Given the description of an element on the screen output the (x, y) to click on. 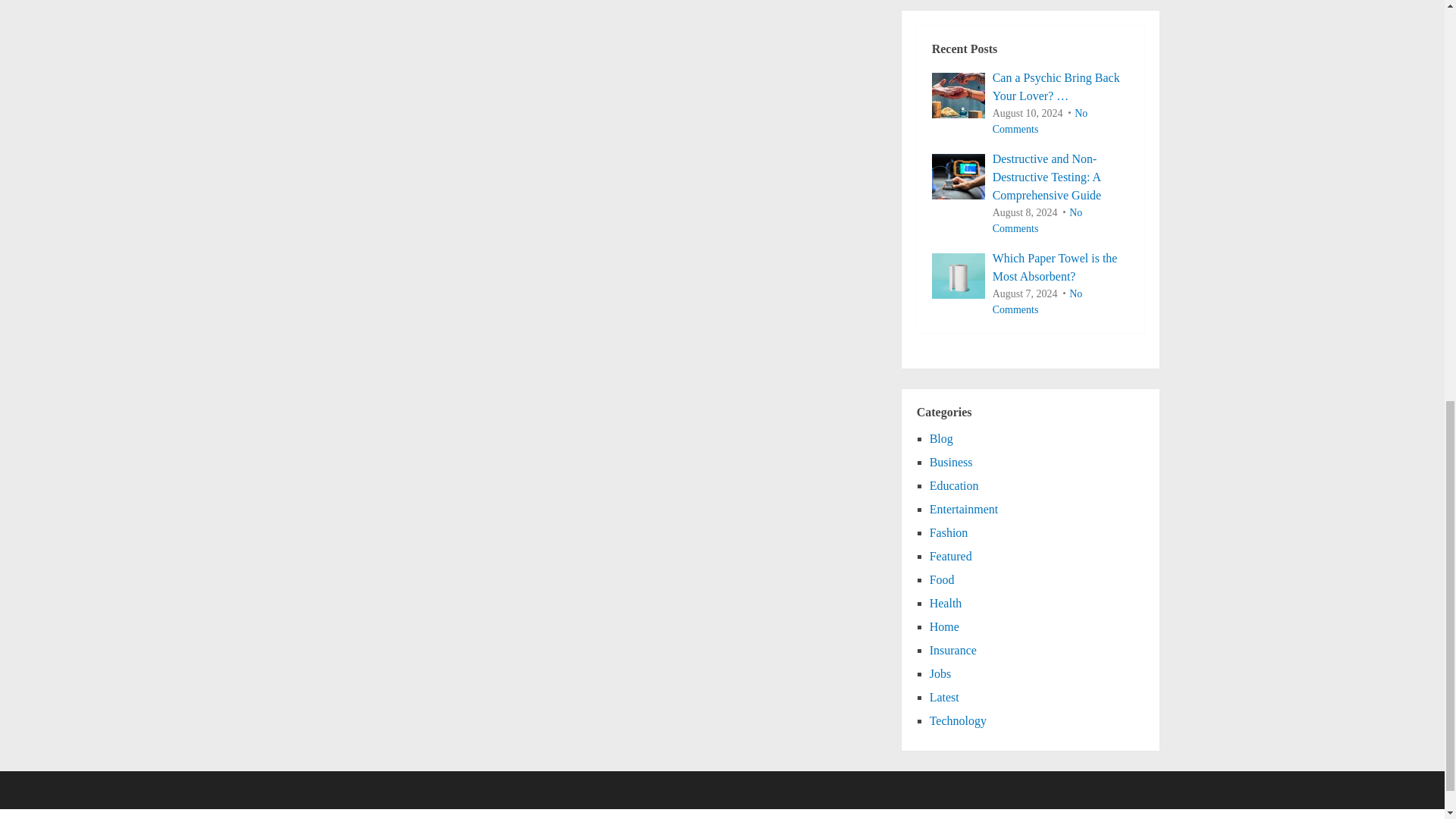
Which Paper Towel is the Most Absorbent? (1030, 267)
Entertainment (964, 508)
Featured (951, 555)
Business (951, 461)
Fashion (949, 532)
Blog (941, 438)
Education (954, 485)
